Given the description of an element on the screen output the (x, y) to click on. 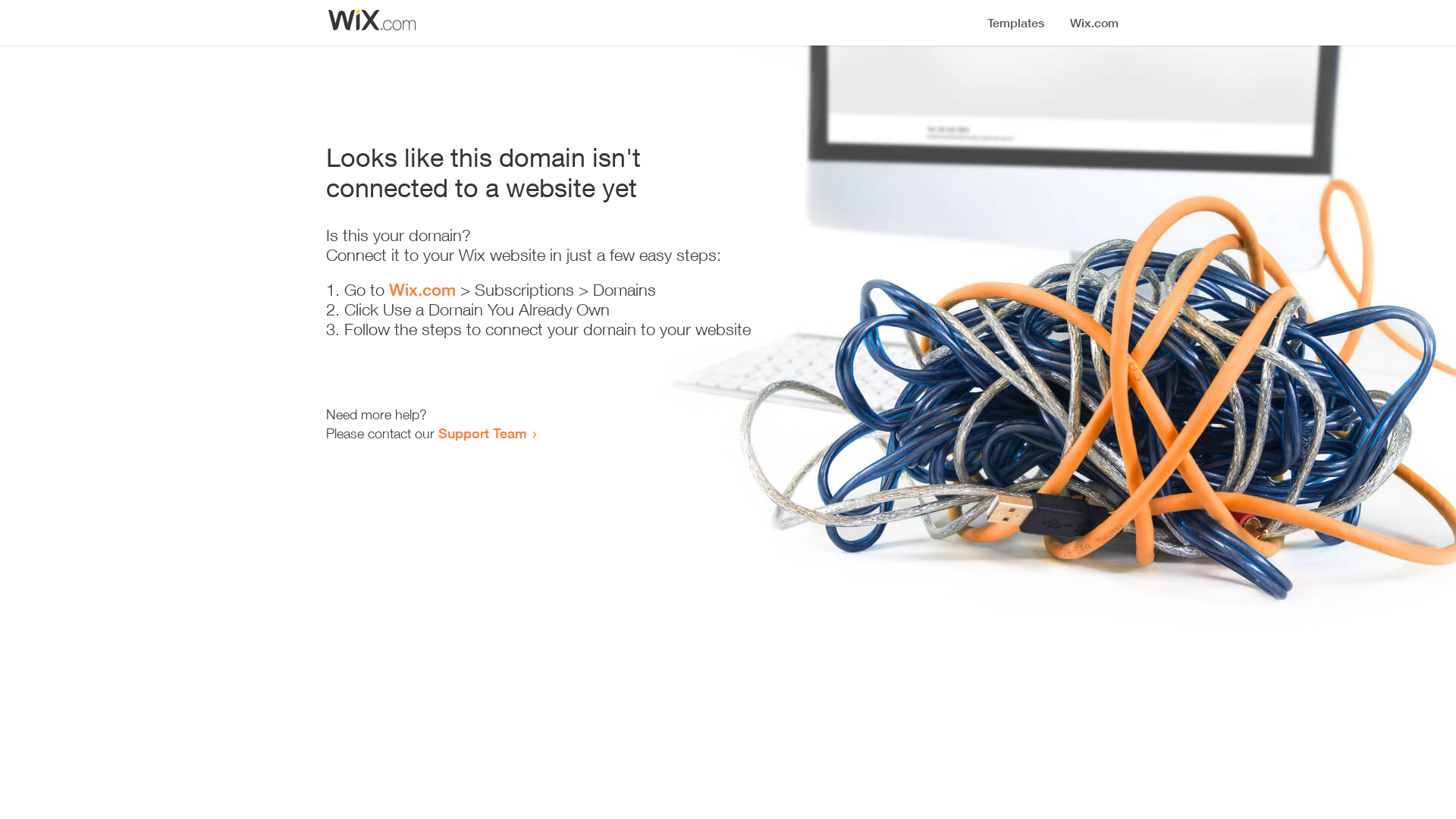
Wix.com Element type: text (422, 289)
Support Team Element type: text (482, 432)
